Given the description of an element on the screen output the (x, y) to click on. 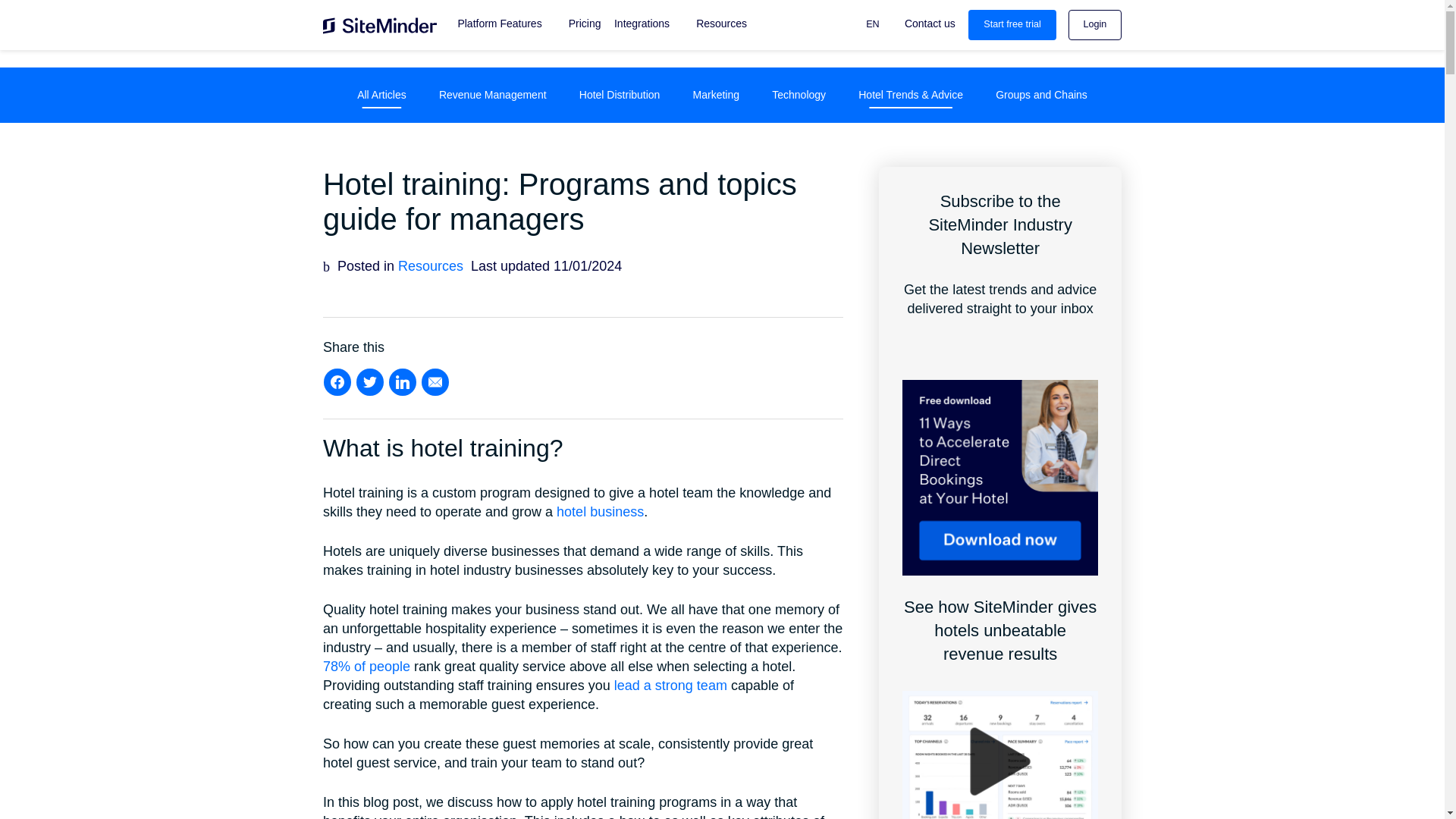
Pricing (576, 23)
Platform Features (499, 23)
Resources (721, 23)
Share on Twitter (369, 381)
Integrations (640, 23)
Visit the home page (379, 30)
Share on Facebook (337, 381)
Share on Email (434, 381)
Share on LinkedIn (402, 381)
